Given the description of an element on the screen output the (x, y) to click on. 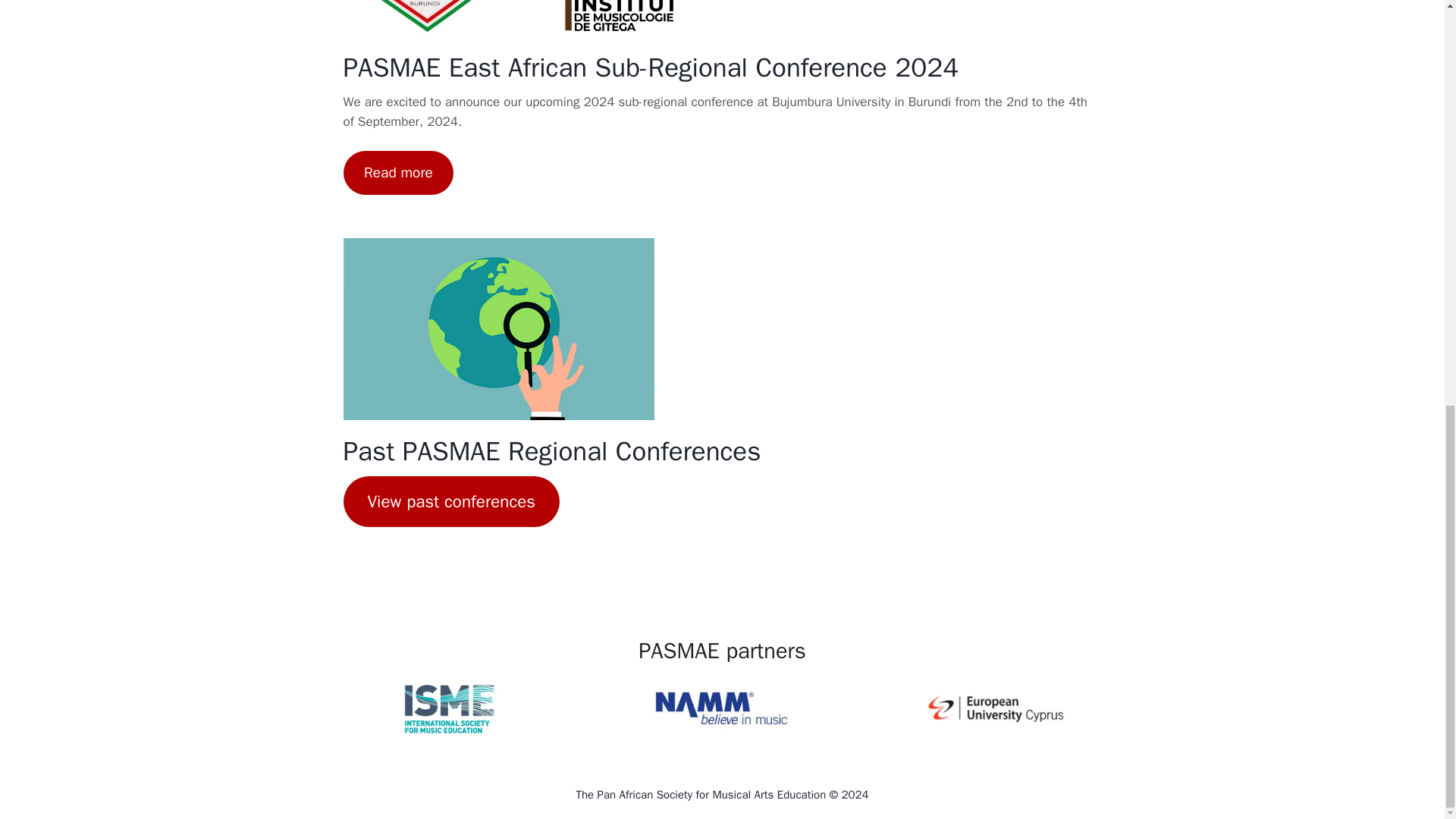
View past conferences (450, 501)
Read more (397, 172)
